Given the description of an element on the screen output the (x, y) to click on. 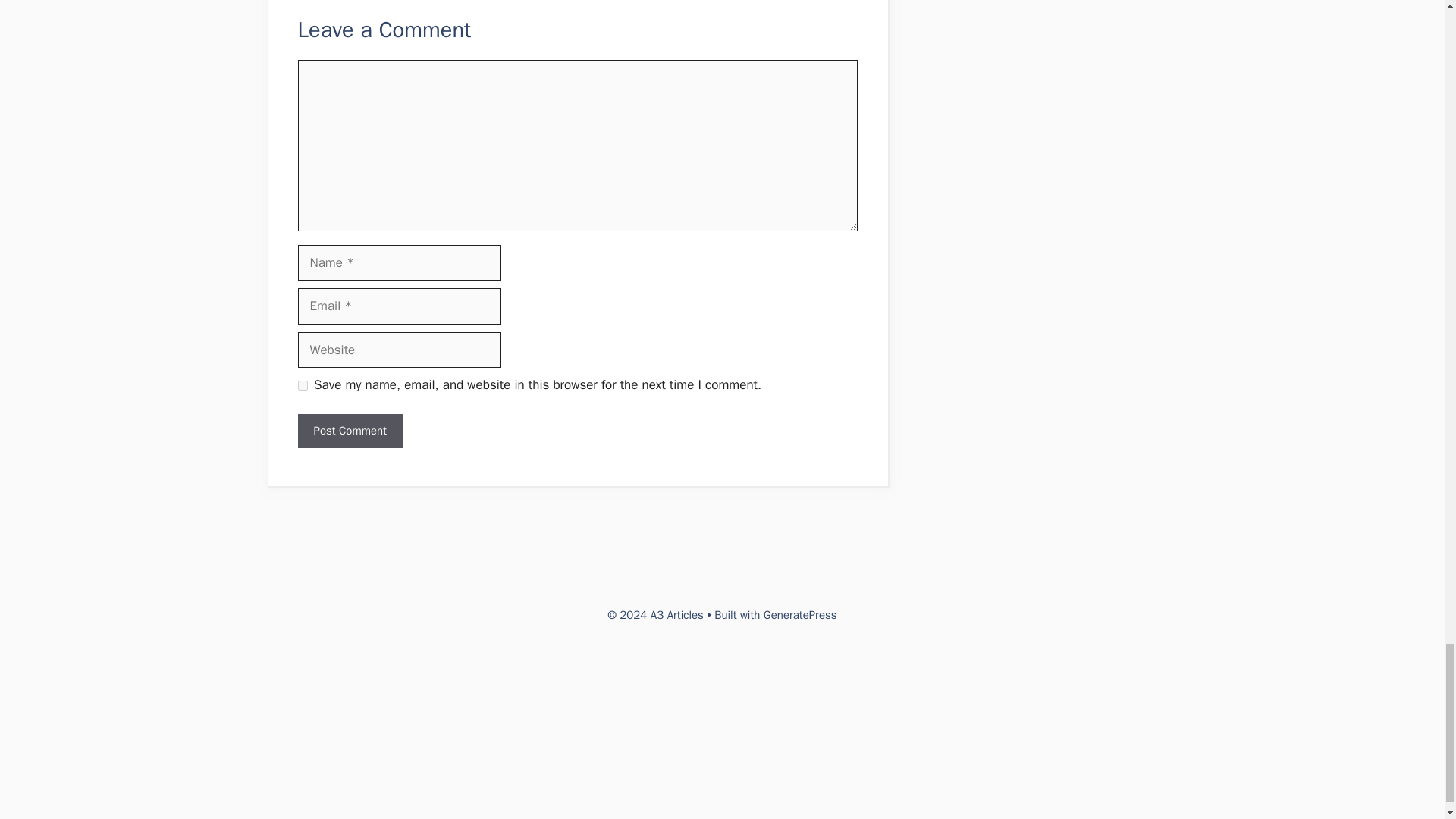
yes (302, 385)
GeneratePress (799, 614)
Post Comment (349, 430)
Post Comment (349, 430)
